Given the description of an element on the screen output the (x, y) to click on. 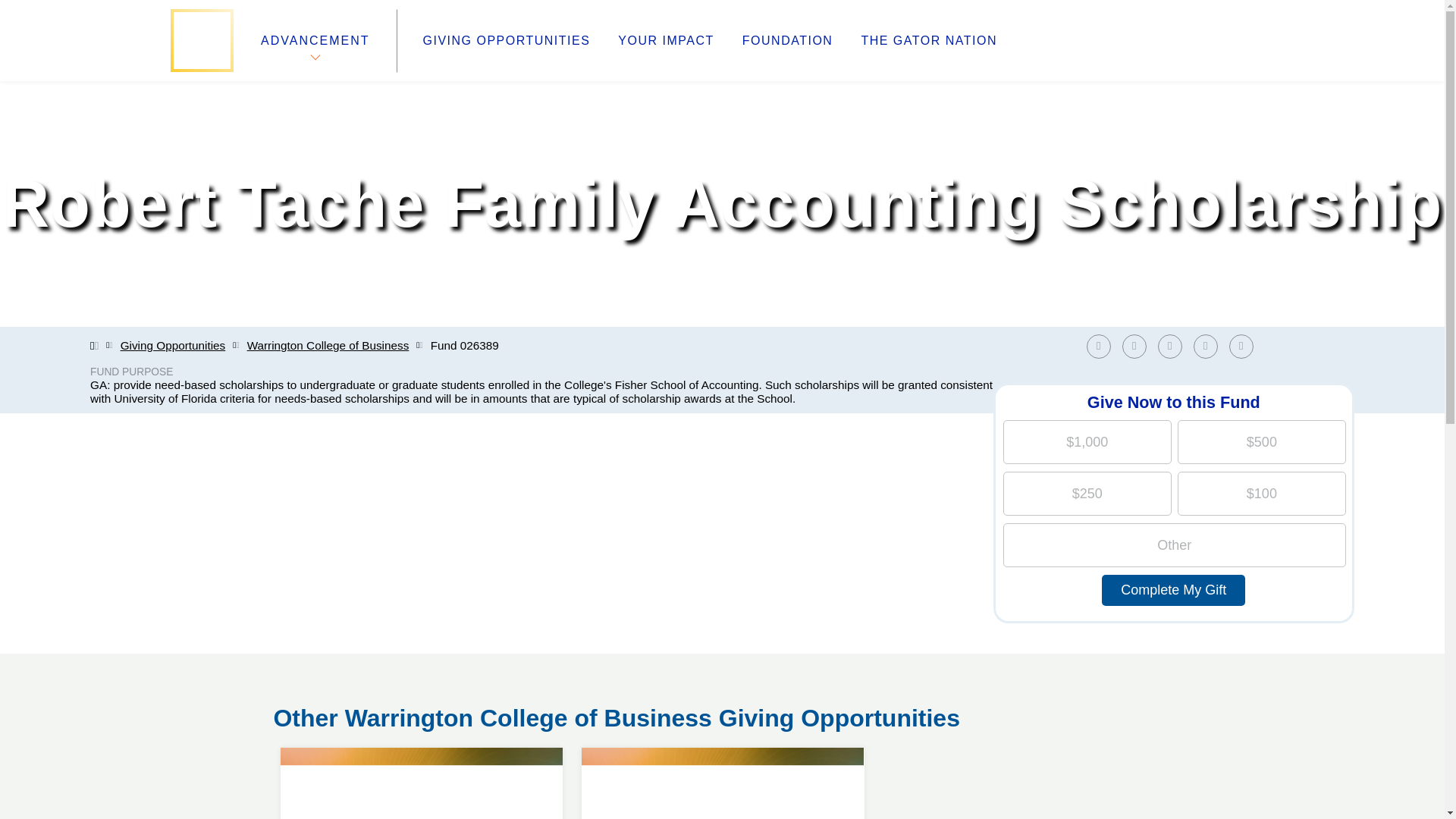
THE GATOR NATION (928, 40)
Share by Email (1240, 346)
Warrington College of Business (328, 345)
Share on Reddit (1205, 346)
Share on LinkedIn (1173, 345)
Complete My Gift (1173, 590)
GIVING OPPORTUNITIES (721, 747)
Share on Twitter (507, 40)
Share on Facebook (1134, 346)
